Given the description of an element on the screen output the (x, y) to click on. 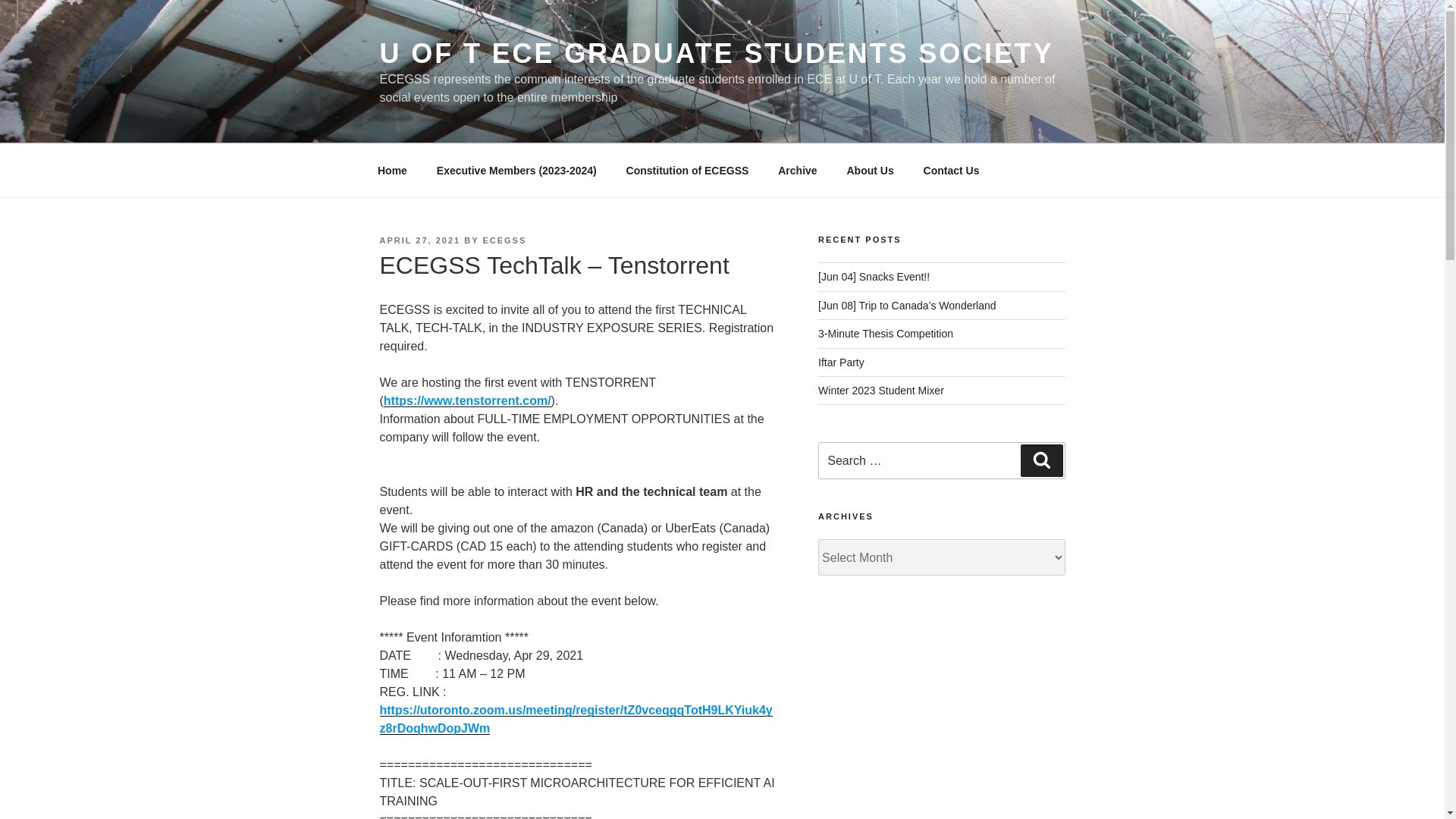
3-Minute Thesis Competition (885, 333)
Search (1041, 459)
Winter 2023 Student Mixer (880, 390)
Archive (797, 170)
ECEGSS (503, 239)
Iftar Party (841, 362)
Constitution of ECEGSS (686, 170)
About Us (869, 170)
U OF T ECE GRADUATE STUDENTS SOCIETY (715, 52)
Home (392, 170)
APRIL 27, 2021 (419, 239)
Contact Us (951, 170)
